Given the description of an element on the screen output the (x, y) to click on. 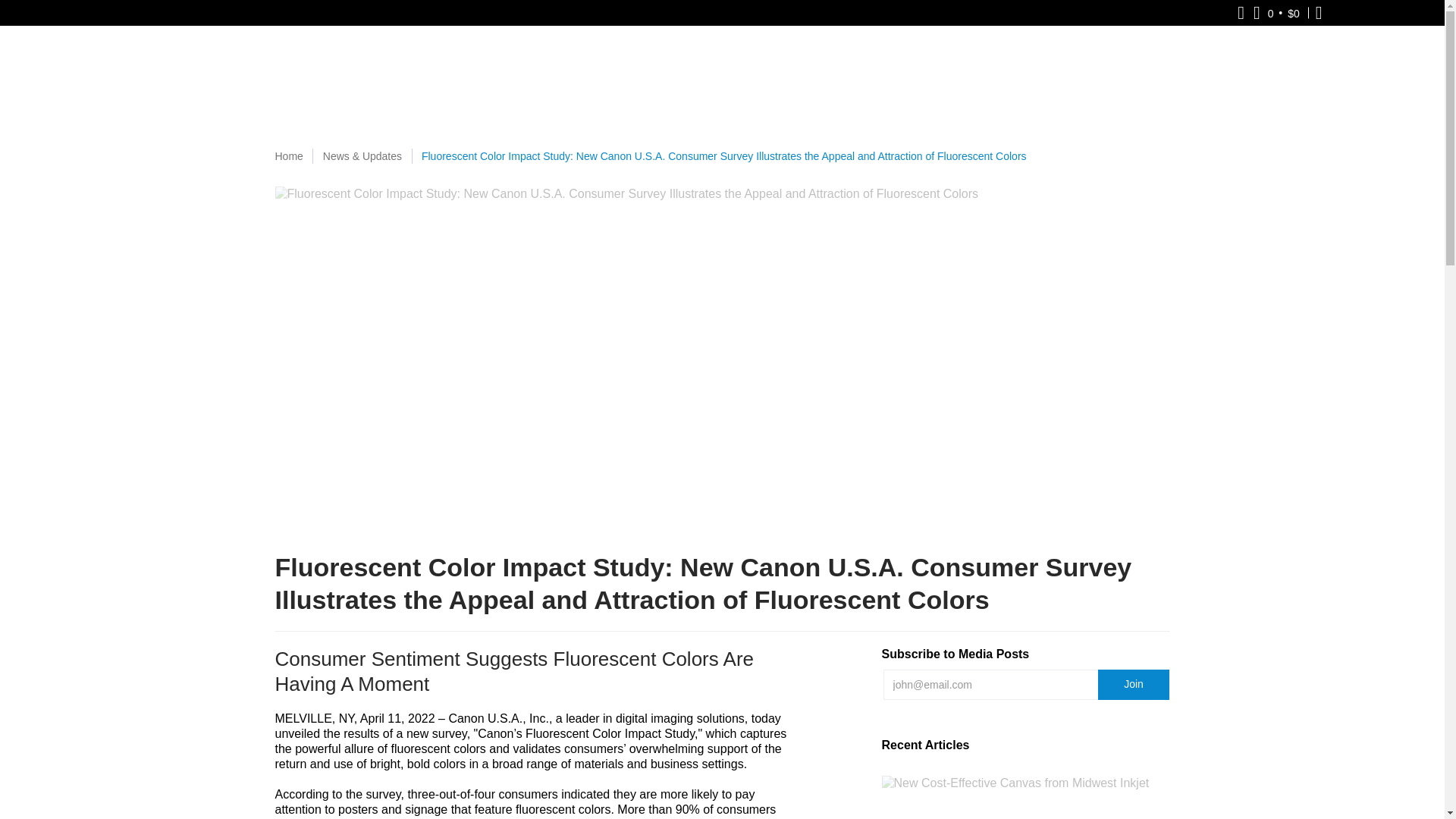
Cart (1276, 12)
Join (1133, 684)
